Given the description of an element on the screen output the (x, y) to click on. 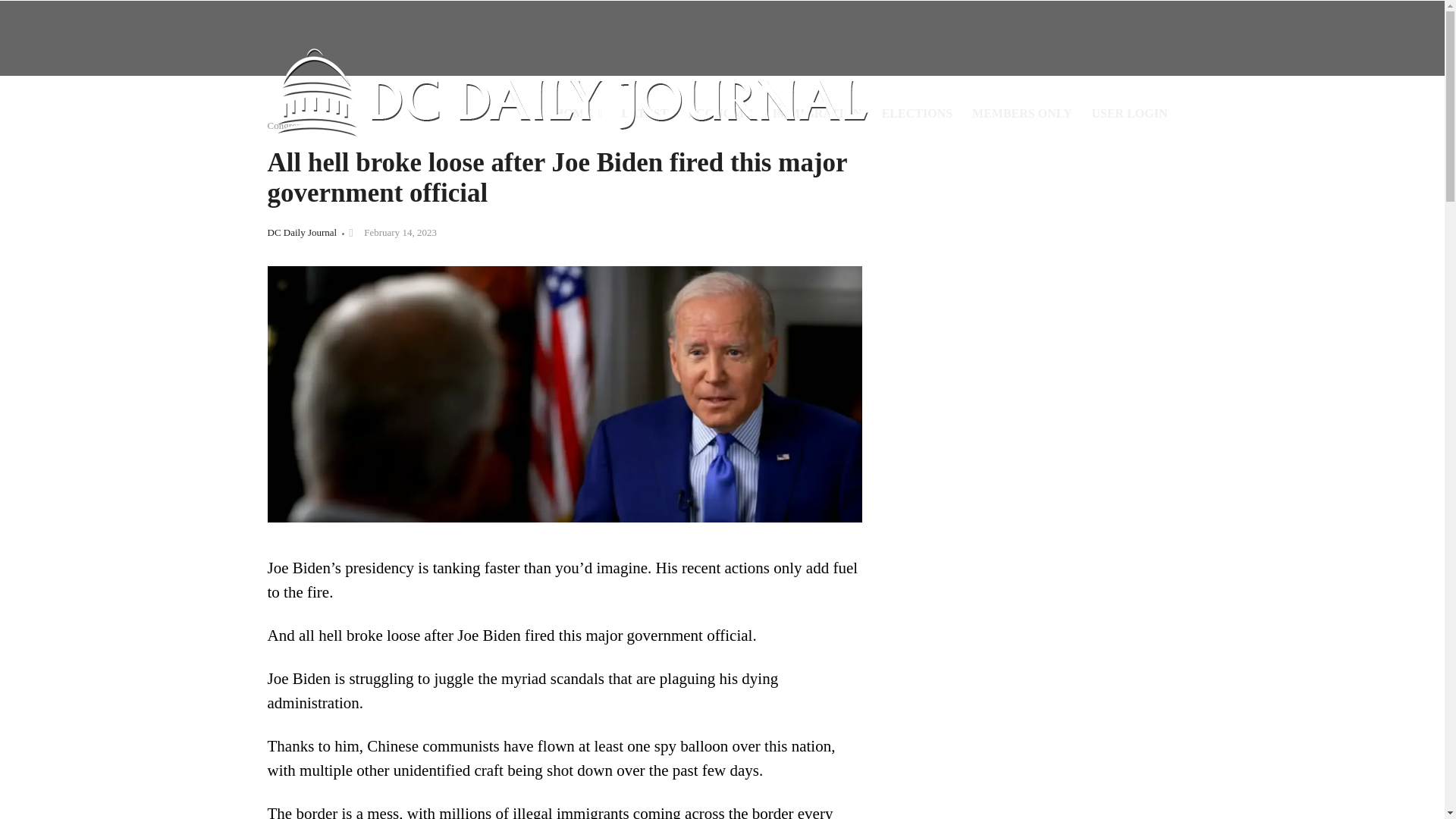
ELECTIONS (917, 113)
IMMIGRATION (817, 113)
USER LOGIN (1128, 113)
HOME (577, 113)
MEMBERS ONLY (1021, 113)
Congress (284, 125)
ECONOMY (719, 113)
